Given the description of an element on the screen output the (x, y) to click on. 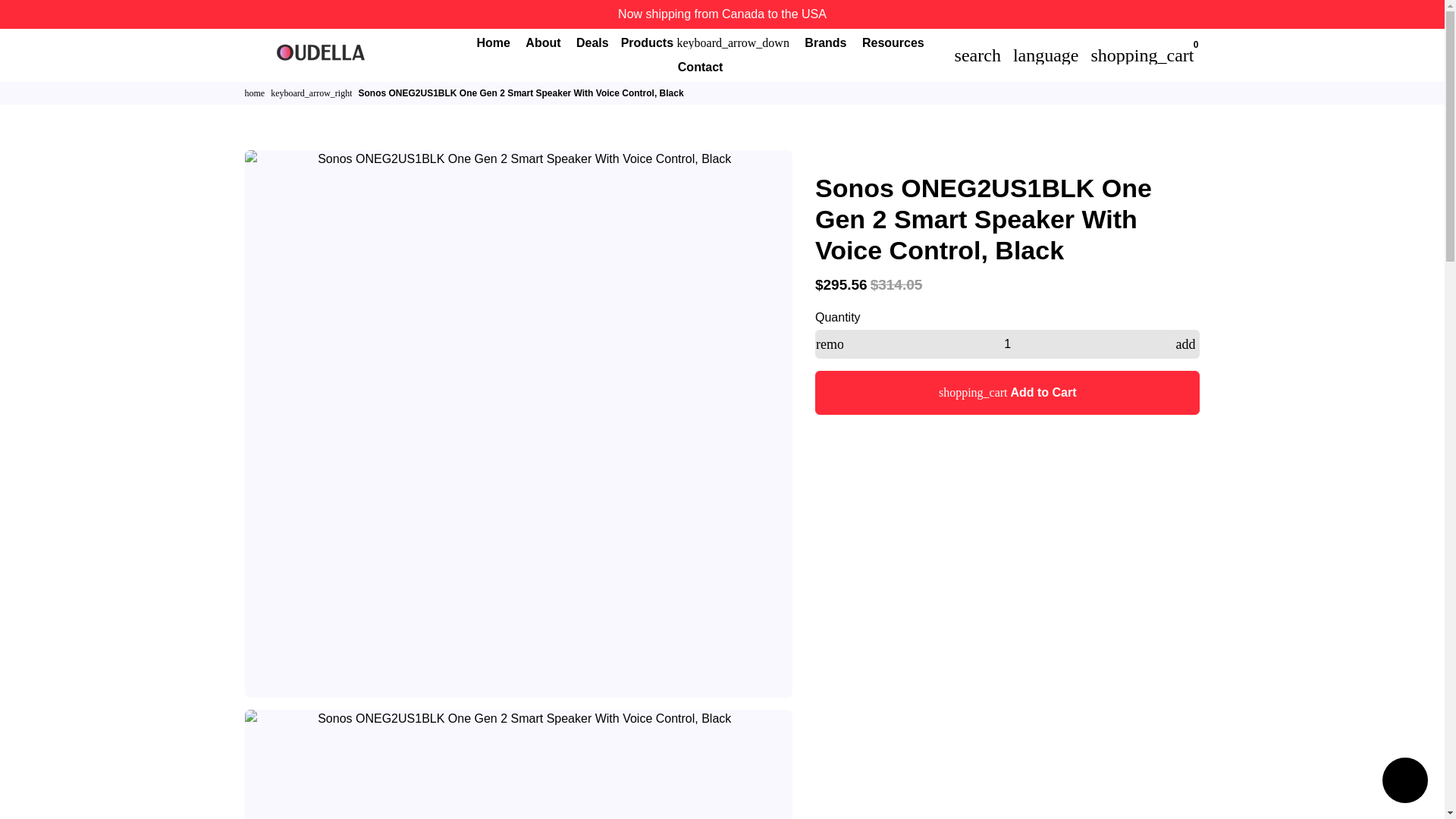
1 (1007, 344)
Search (978, 54)
Cart (1141, 54)
